Given the description of an element on the screen output the (x, y) to click on. 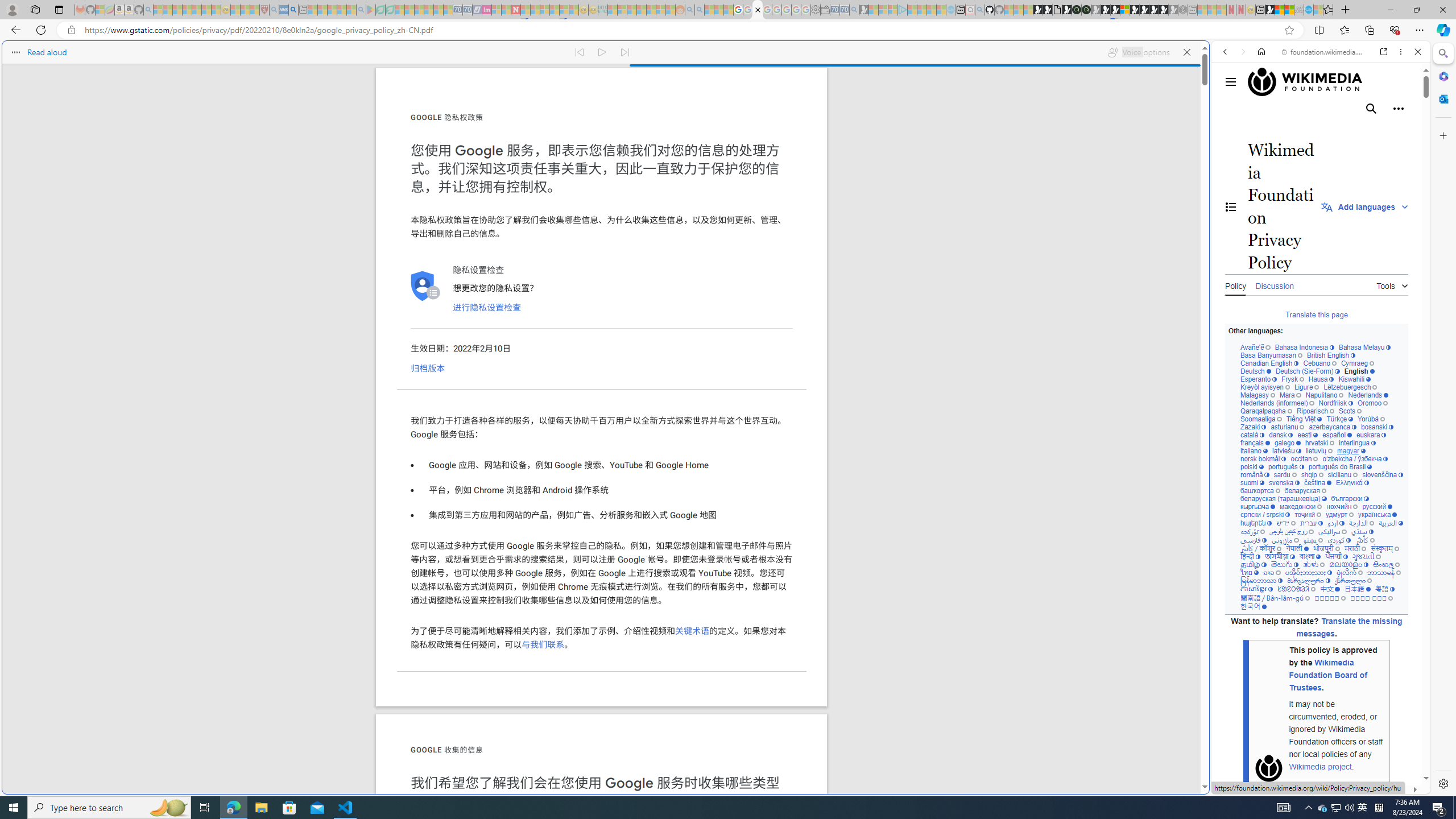
polski (1251, 466)
occitan (1303, 459)
Nederlands (1368, 395)
